Given the description of an element on the screen output the (x, y) to click on. 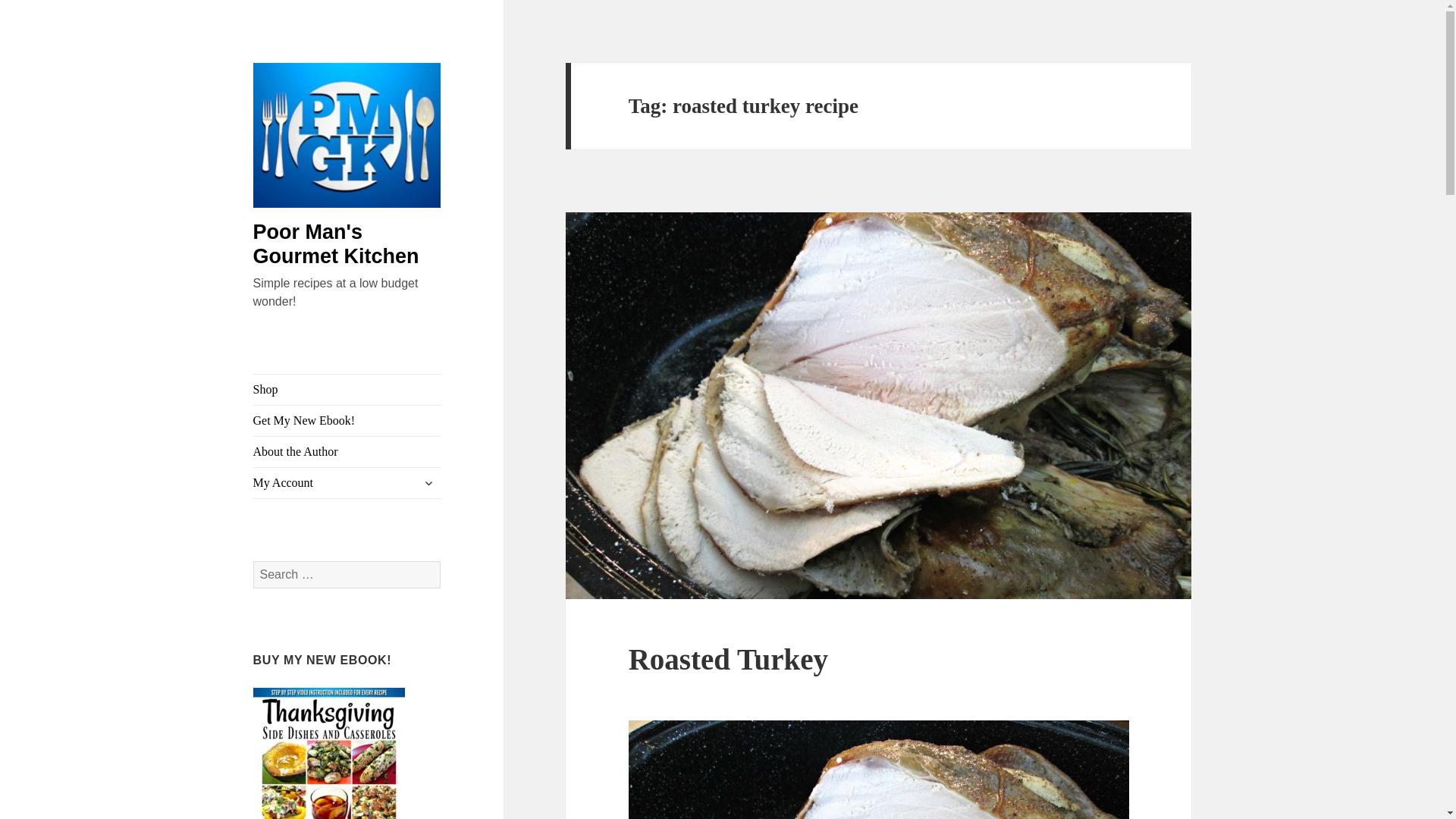
Poor Man's Gourmet Kitchen (336, 243)
Shop (347, 389)
My Account (347, 482)
expand child menu (428, 482)
Roasted Turkey (728, 658)
About the Author (347, 451)
Get My New Ebook! (347, 420)
